Given the description of an element on the screen output the (x, y) to click on. 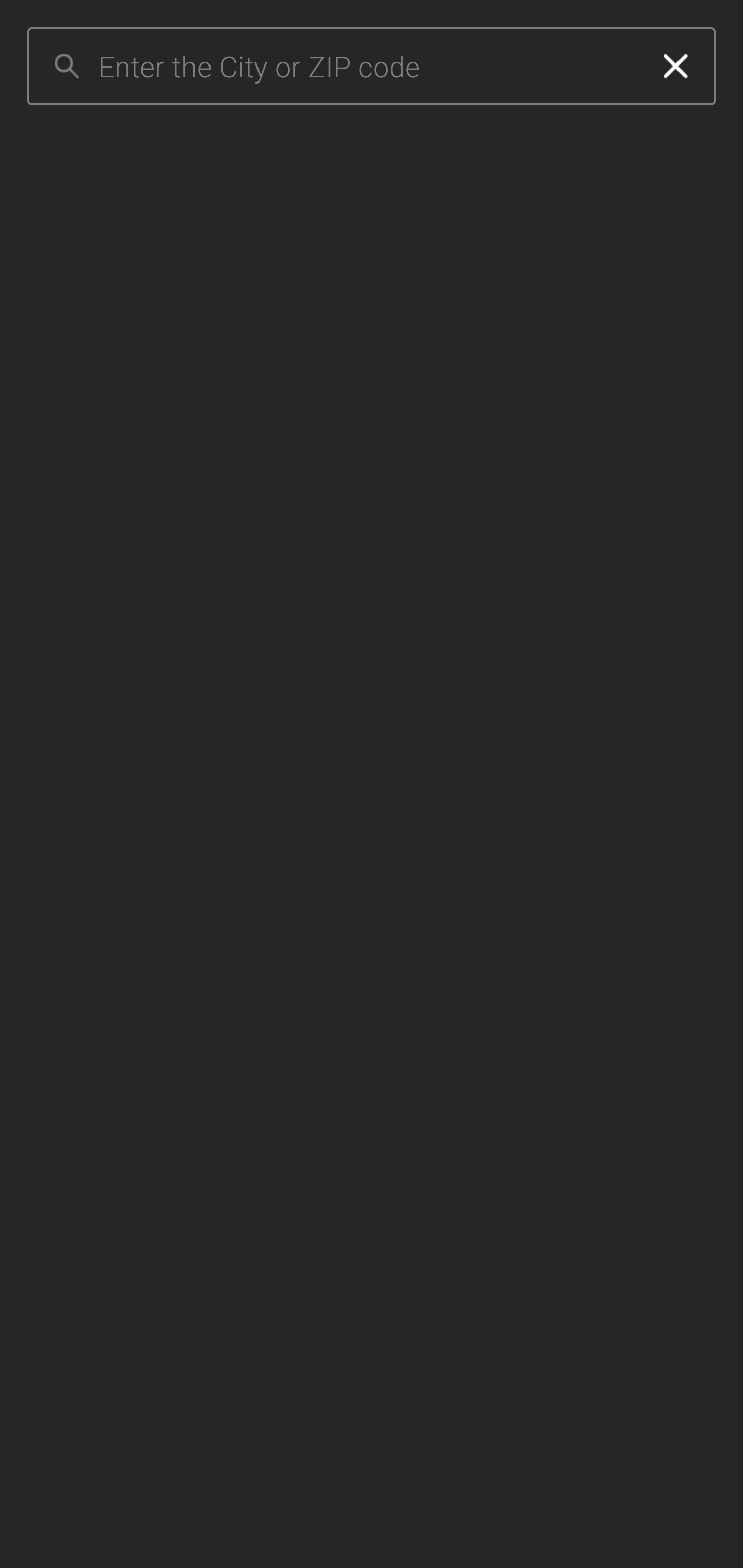
Enter the City or ZIP code (367, 66)
